Given the description of an element on the screen output the (x, y) to click on. 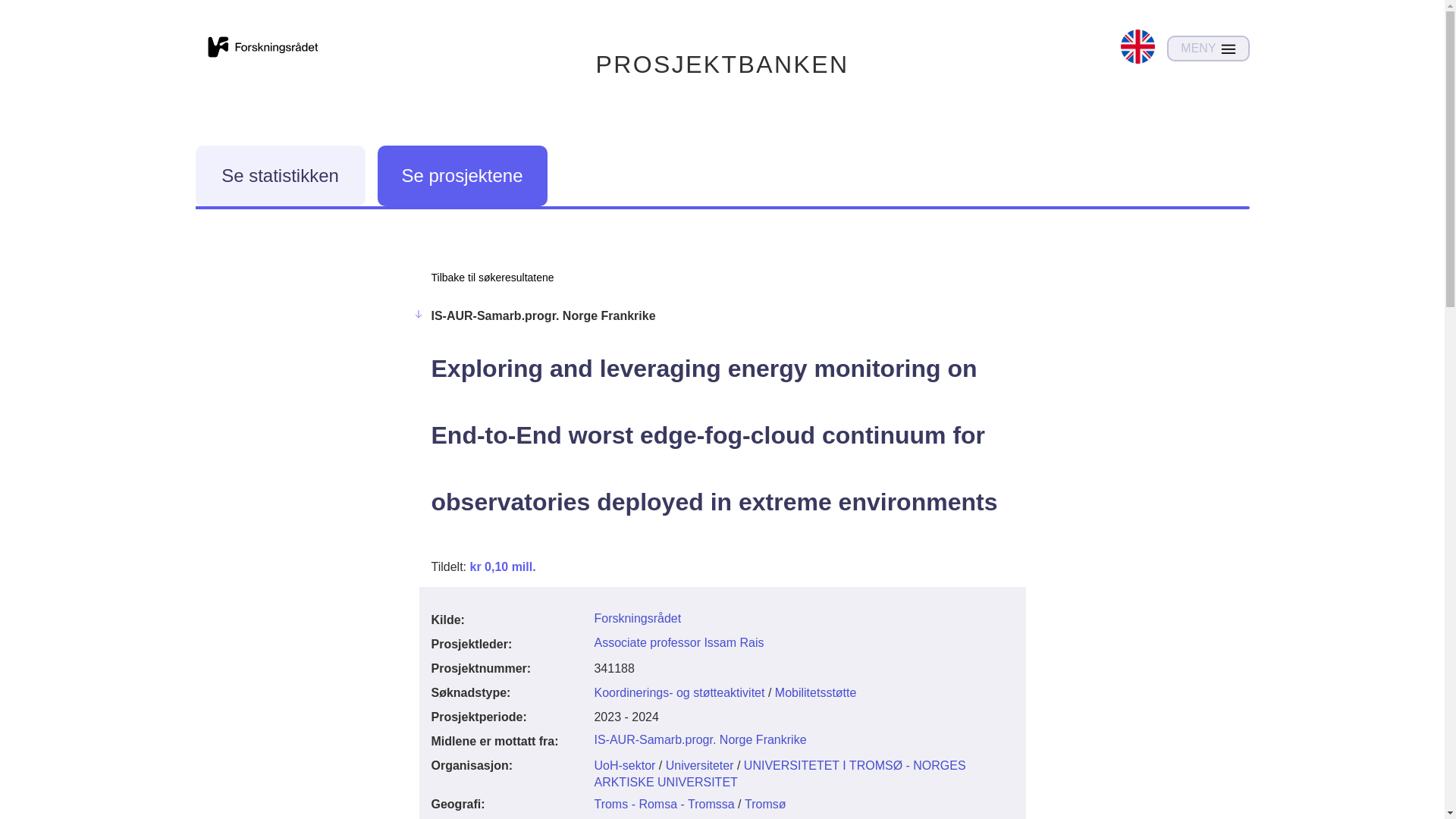
Se prosjektene (462, 175)
PROSJEKTBANKEN (721, 64)
Associate professor Issam Rais (678, 642)
MENY (1208, 48)
Se statistikken (280, 175)
Universiteter (699, 765)
Troms - Romsa - Tromssa (663, 803)
IS-AUR-Samarb.progr. Norge Frankrike (700, 739)
UoH-sektor (624, 765)
